Given the description of an element on the screen output the (x, y) to click on. 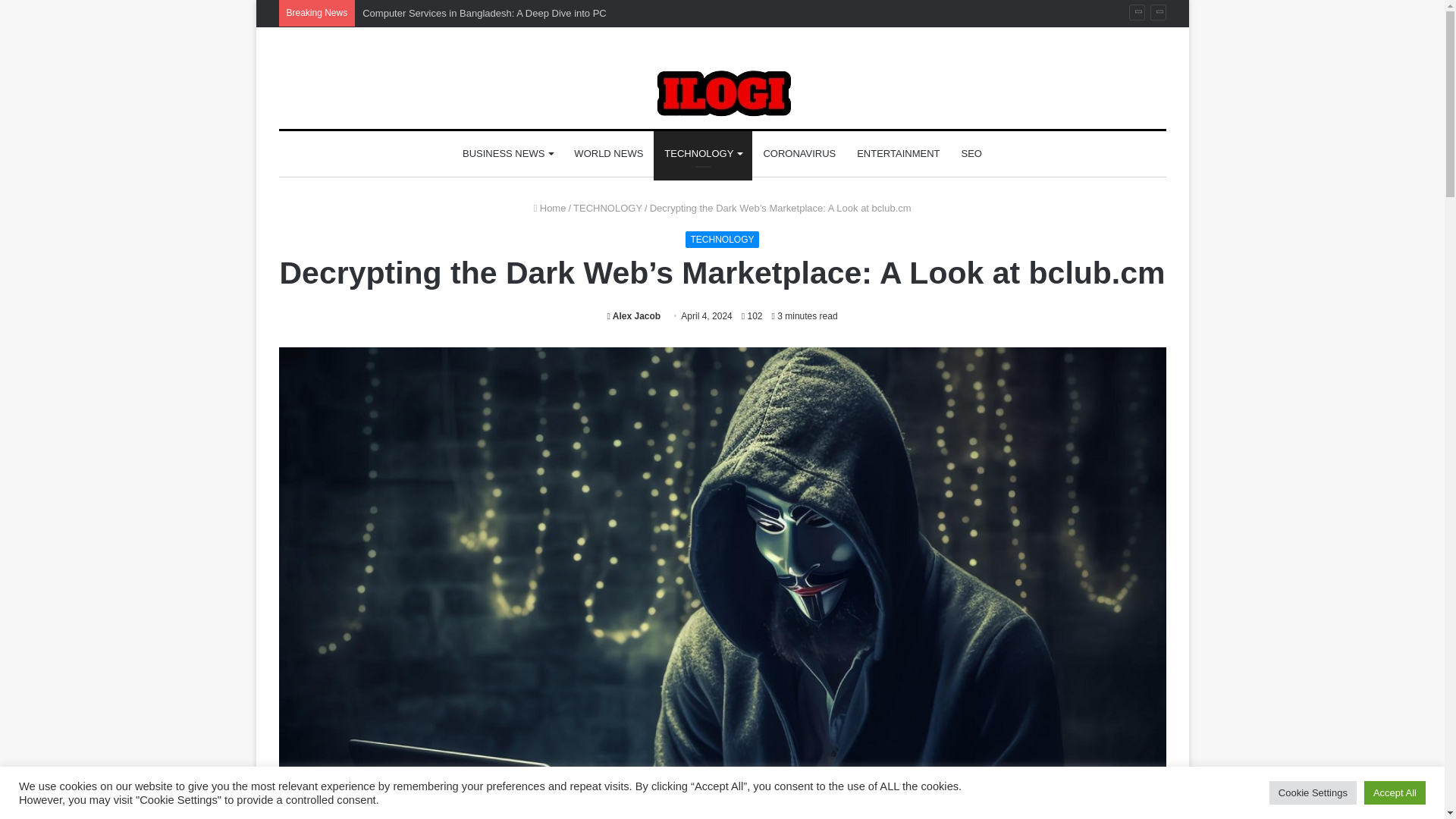
Home (549, 207)
Alex Jacob (634, 316)
TECHNOLOGY (702, 153)
ENTERTAINMENT (897, 153)
WORLD NEWS (608, 153)
TECHNOLOGY (607, 207)
BUSINESS NEWS (507, 153)
SEO (971, 153)
Computer Services in Bangladesh: A Deep Dive into PC (484, 12)
CORONAVIRUS (798, 153)
